Given the description of an element on the screen output the (x, y) to click on. 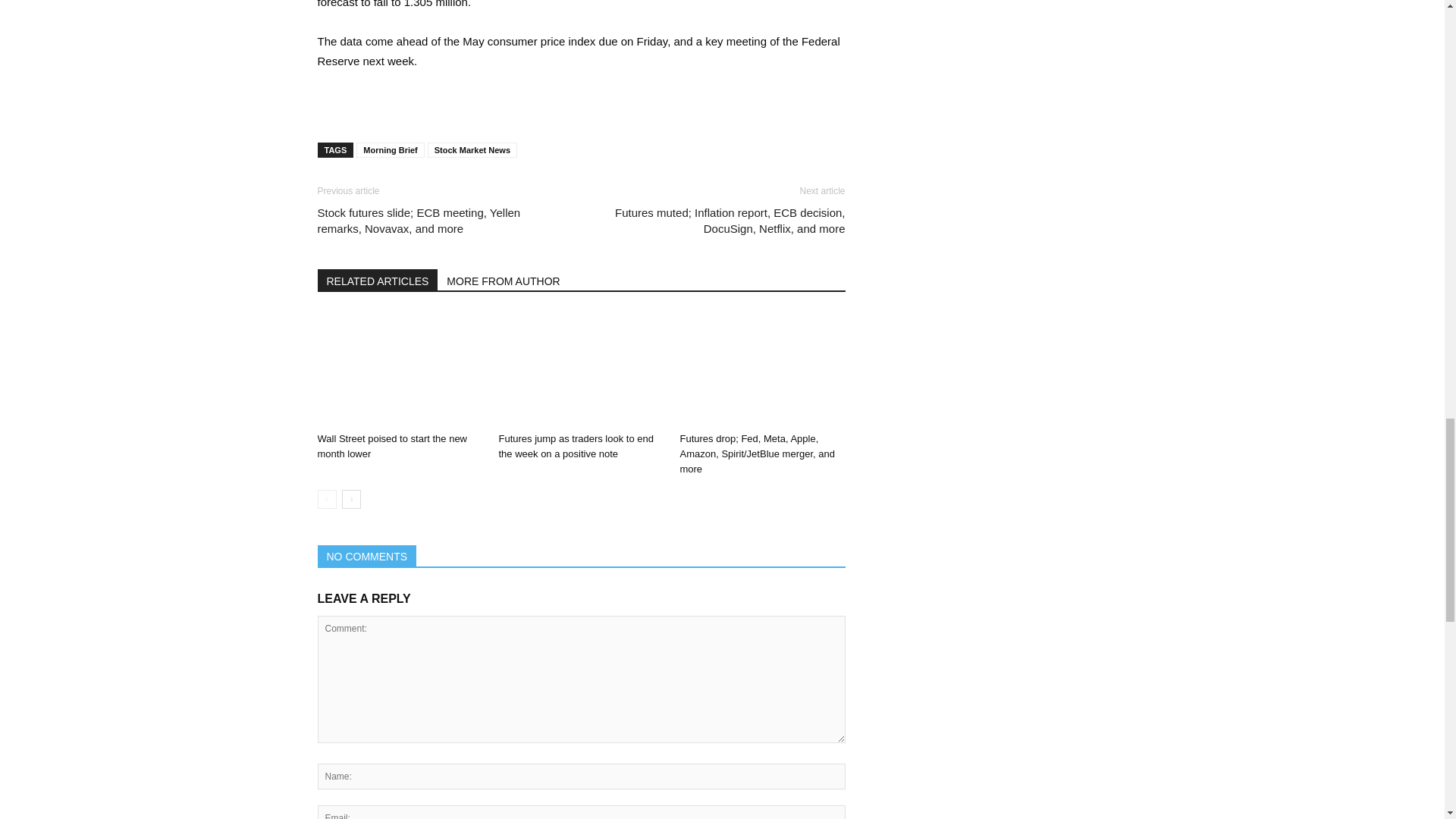
Wall Street poised to start the new month lower (399, 368)
Wall Street poised to start the new month lower (392, 446)
